Given the description of an element on the screen output the (x, y) to click on. 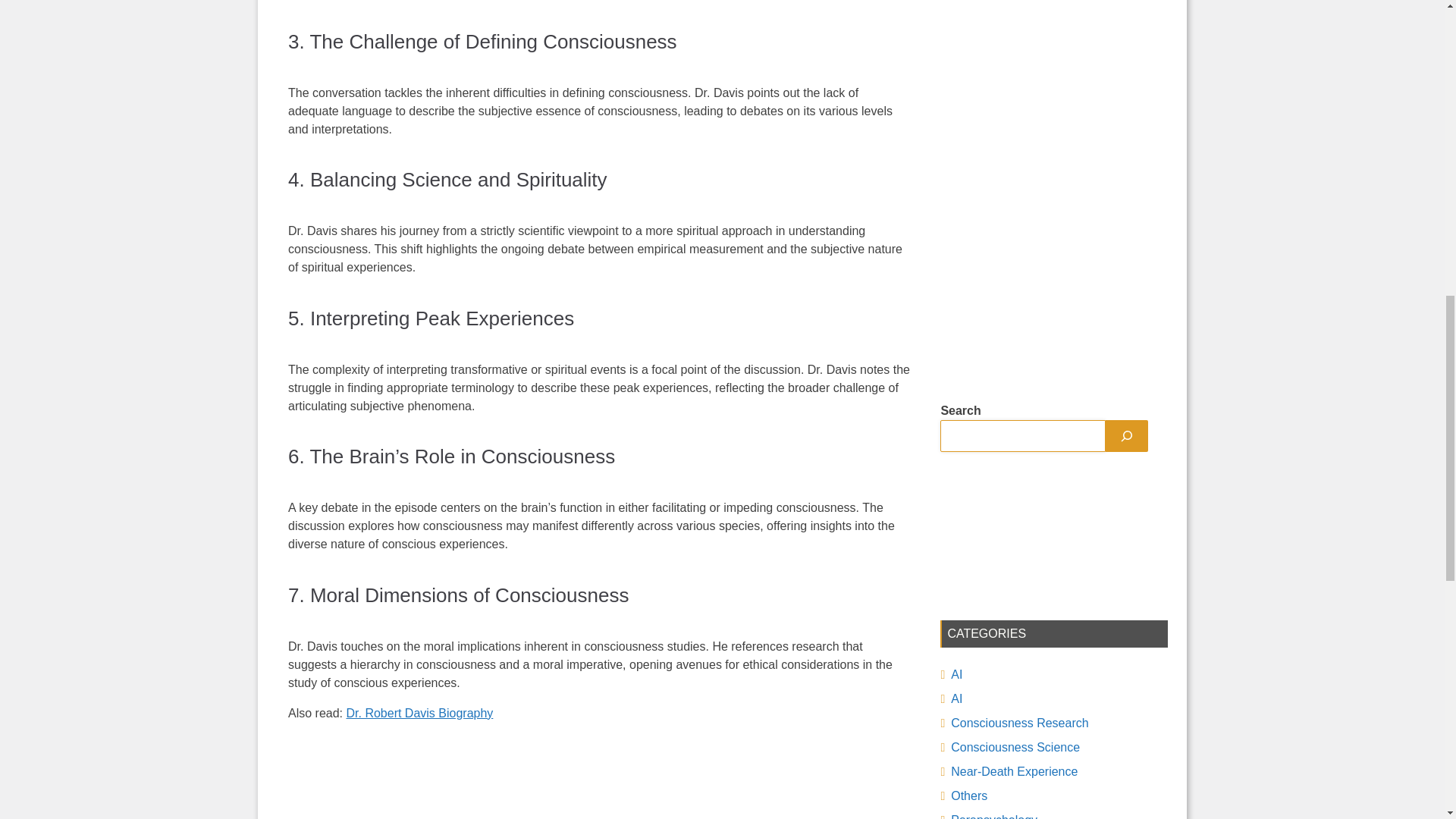
Consciousness Science (1015, 747)
Consciousness Research (1018, 722)
Near-Death Experience (1013, 771)
Parapsychology (993, 816)
Dr. Robert Davis Biography (419, 712)
Others (968, 795)
